Given the description of an element on the screen output the (x, y) to click on. 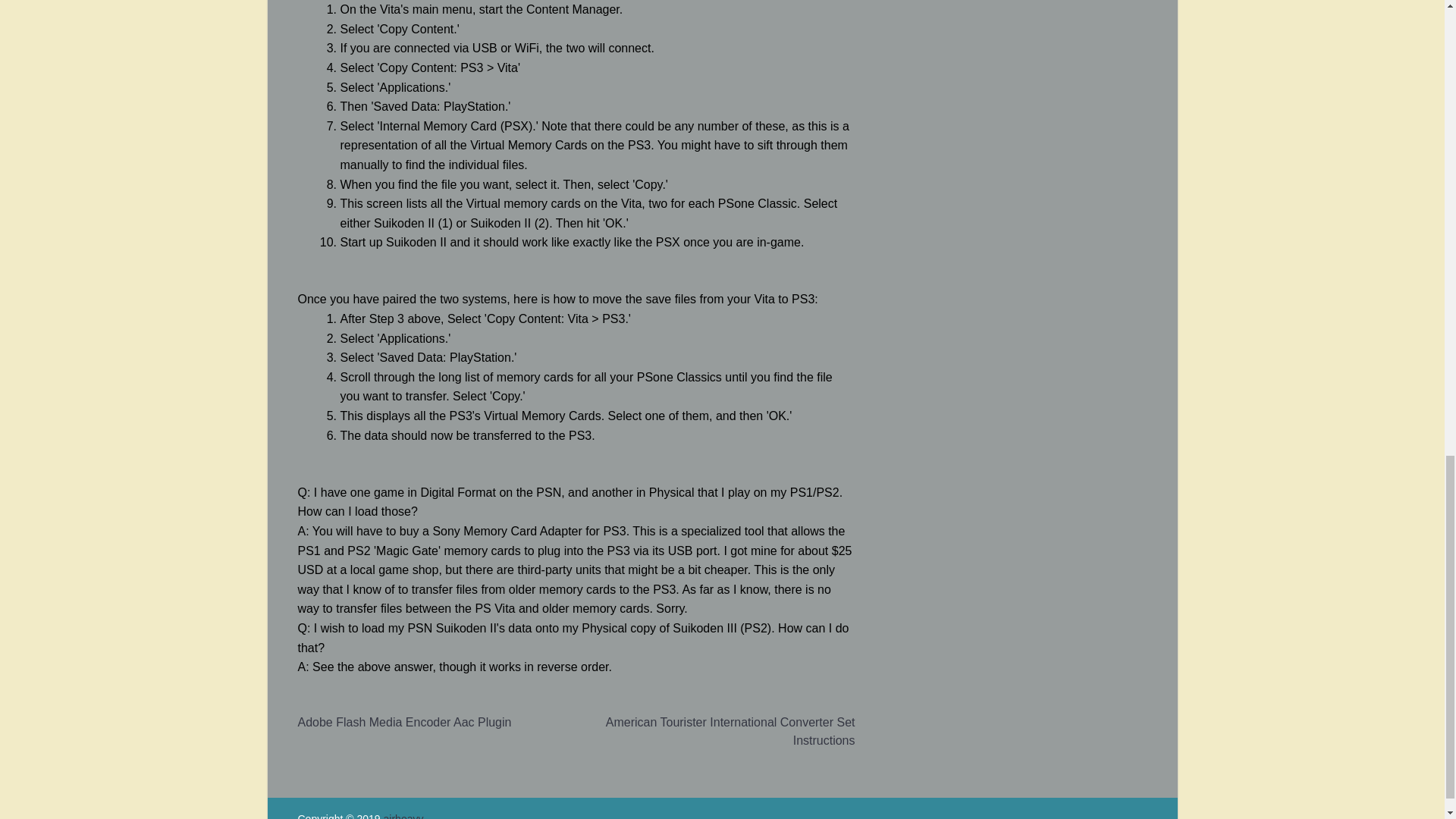
American Tourister International Converter Set Instructions (730, 730)
Adobe Flash Media Encoder Aac Plugin (404, 721)
